Given the description of an element on the screen output the (x, y) to click on. 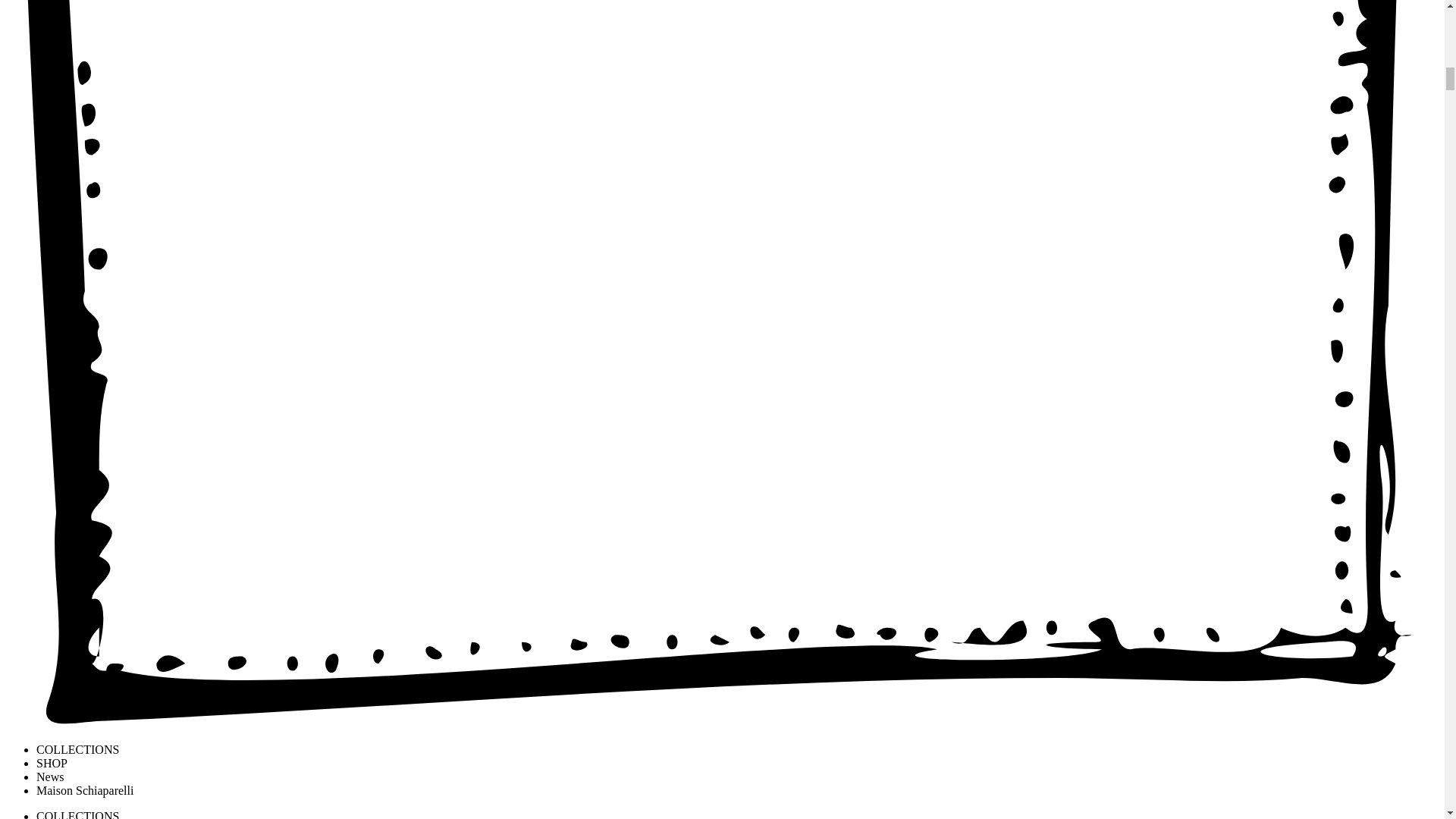
SHOP (51, 762)
COLLECTIONS (77, 748)
News (50, 776)
Maison Schiaparelli (84, 789)
COLLECTIONS (77, 814)
